Given the description of an element on the screen output the (x, y) to click on. 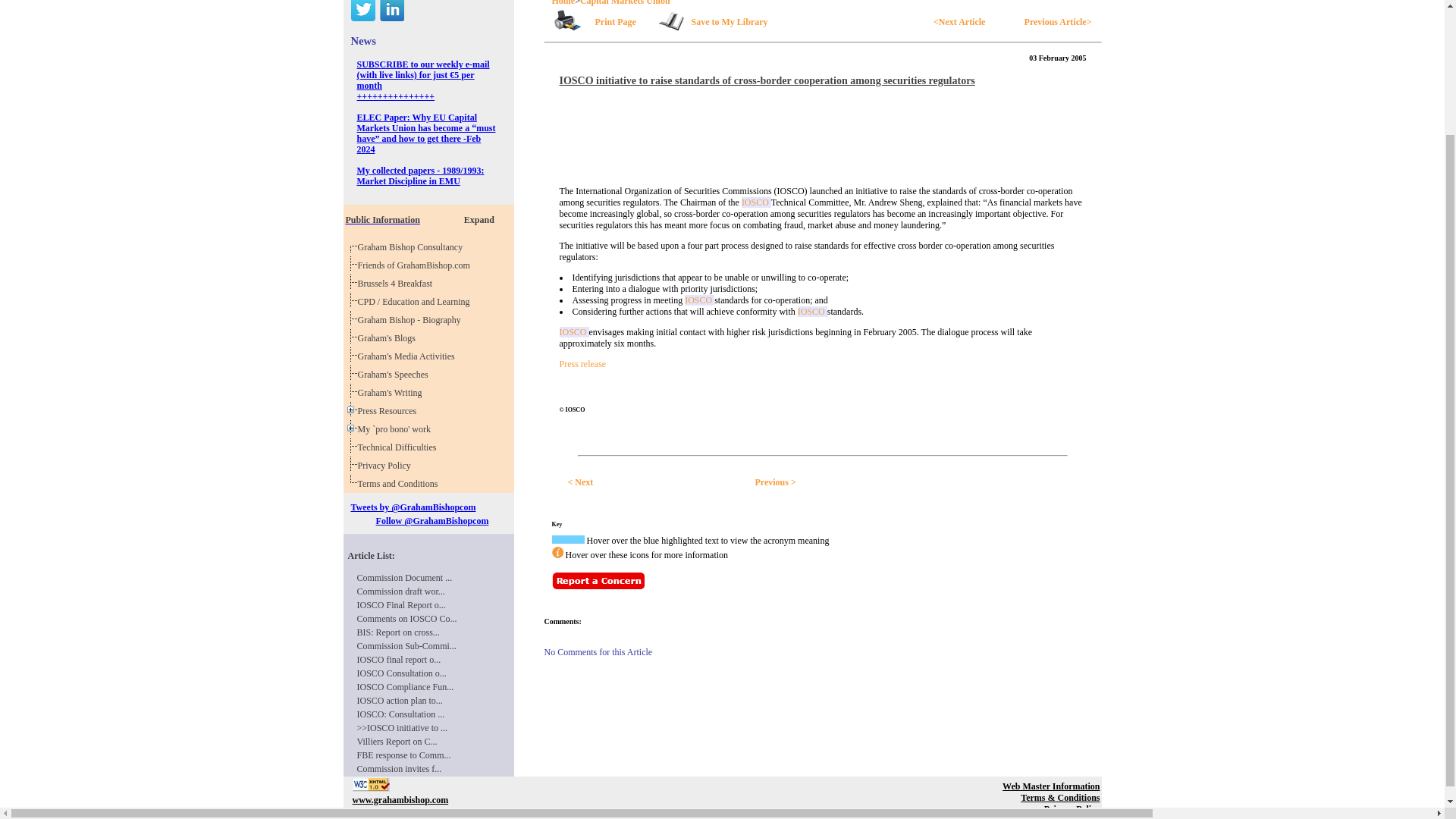
Join the "Brussels" Finance Watchers (398, 283)
Press Resources   (390, 410)
Privacy Policy for GrahamBishop.com (386, 465)
Friends of GrahamBishop.com   (416, 265)
Graham Bishop - Biography   (427, 215)
Brussels 4 Breakfast   (411, 319)
Follow us on LinkedIn (398, 283)
Graham's Blogs   (390, 10)
Expand (389, 337)
Follow us on Twitter (479, 220)
Terms and Conditions for use of GrahamBishop.com (362, 10)
My new books in 2011 (400, 483)
